Given the description of an element on the screen output the (x, y) to click on. 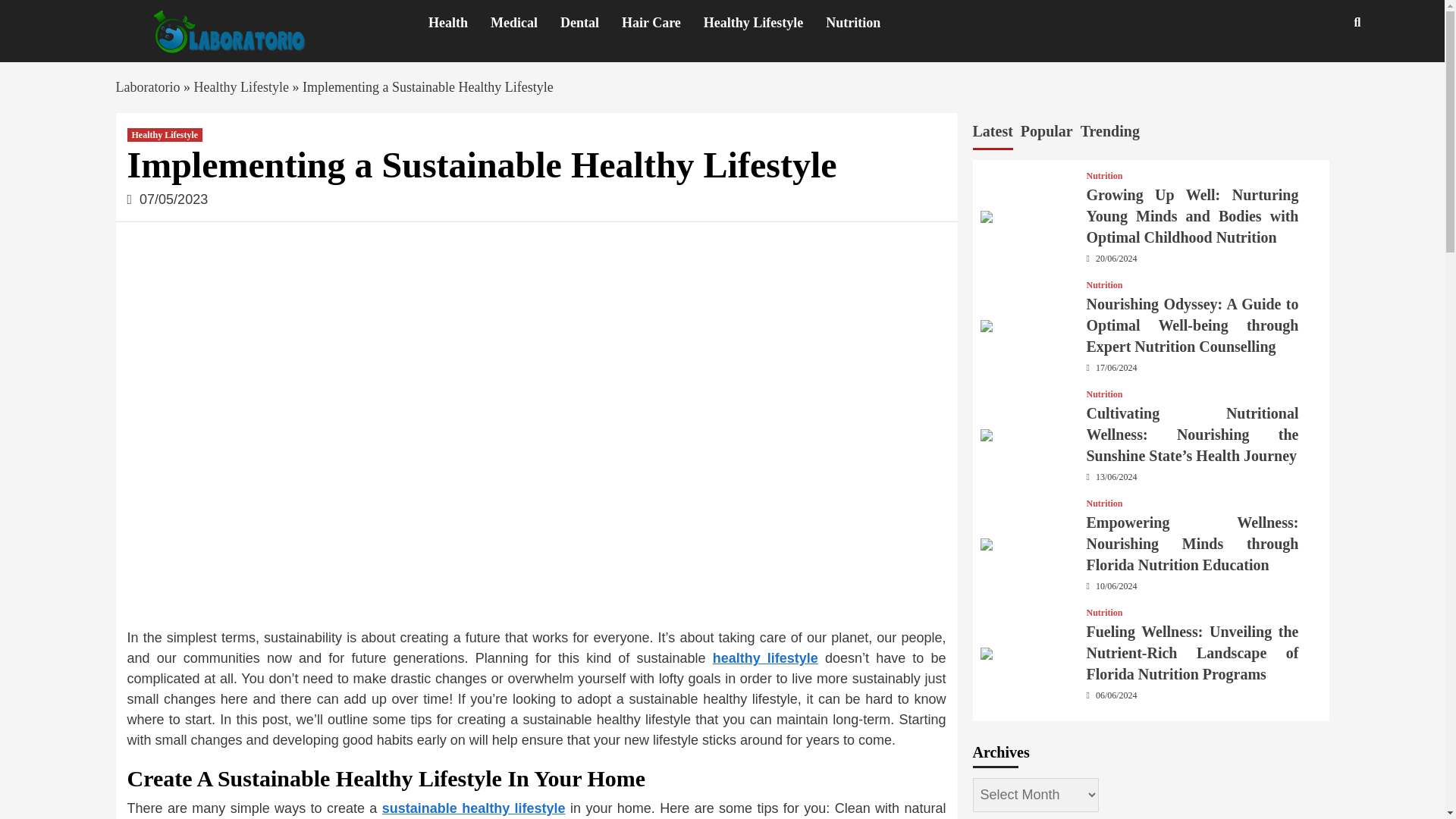
Hair Care (662, 22)
Latest (991, 133)
Nutrition (1104, 284)
Nutrition (863, 22)
Healthy Lifestyle (764, 22)
sustainable healthy lifestyle (473, 807)
Laboratorio (147, 87)
Popular (1046, 133)
Health (459, 22)
Nutrition (1104, 175)
healthy lifestyle (765, 657)
Healthy Lifestyle (240, 87)
Medical (525, 22)
Dental (590, 22)
